Given the description of an element on the screen output the (x, y) to click on. 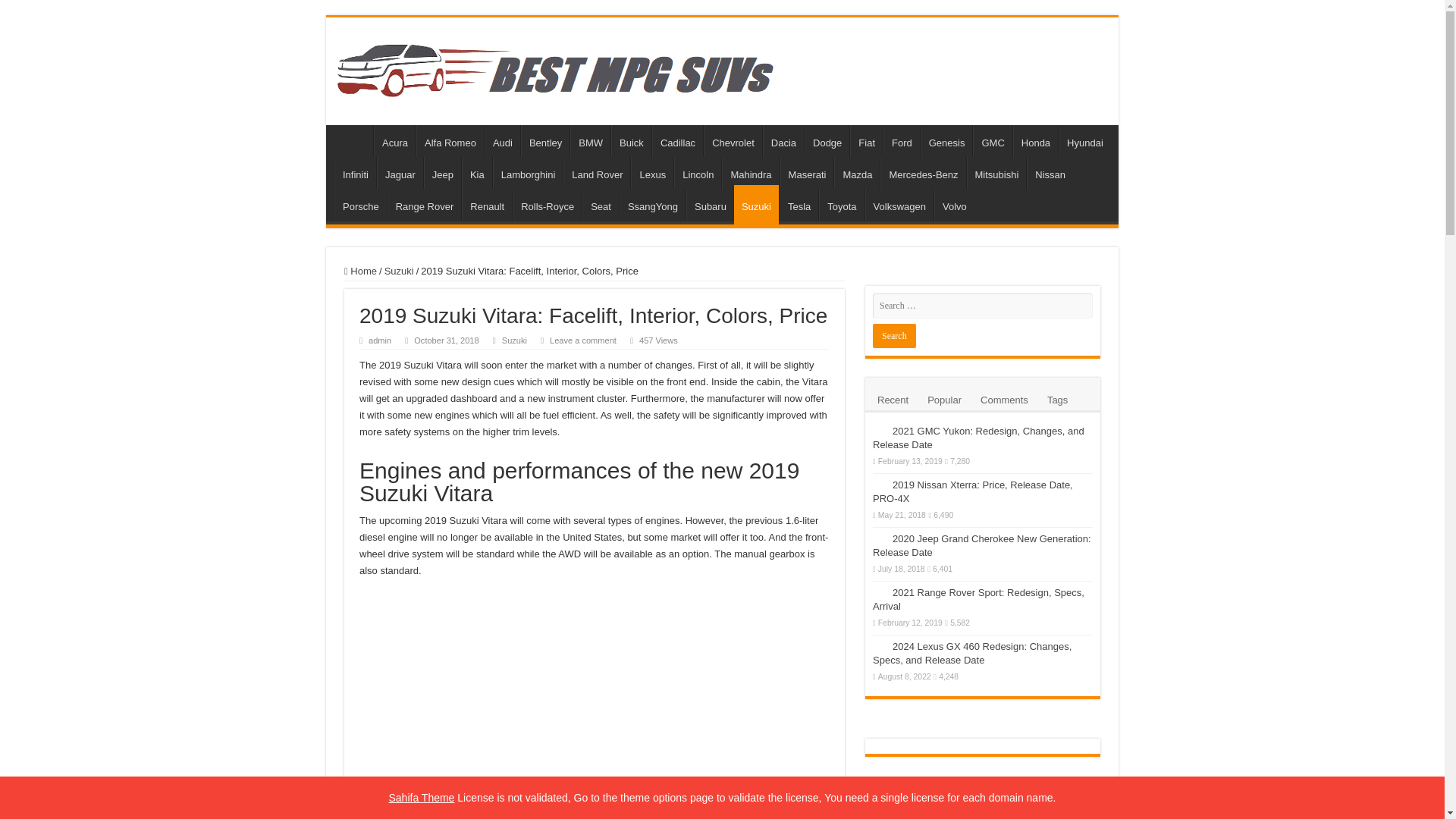
Jeep (442, 173)
Dodge (826, 141)
Bentley (545, 141)
Seat (600, 204)
Cadillac (677, 141)
Hyundai (1084, 141)
Kia (476, 173)
Mitsubishi (996, 173)
Dacia (782, 141)
Ford (901, 141)
